Given the description of an element on the screen output the (x, y) to click on. 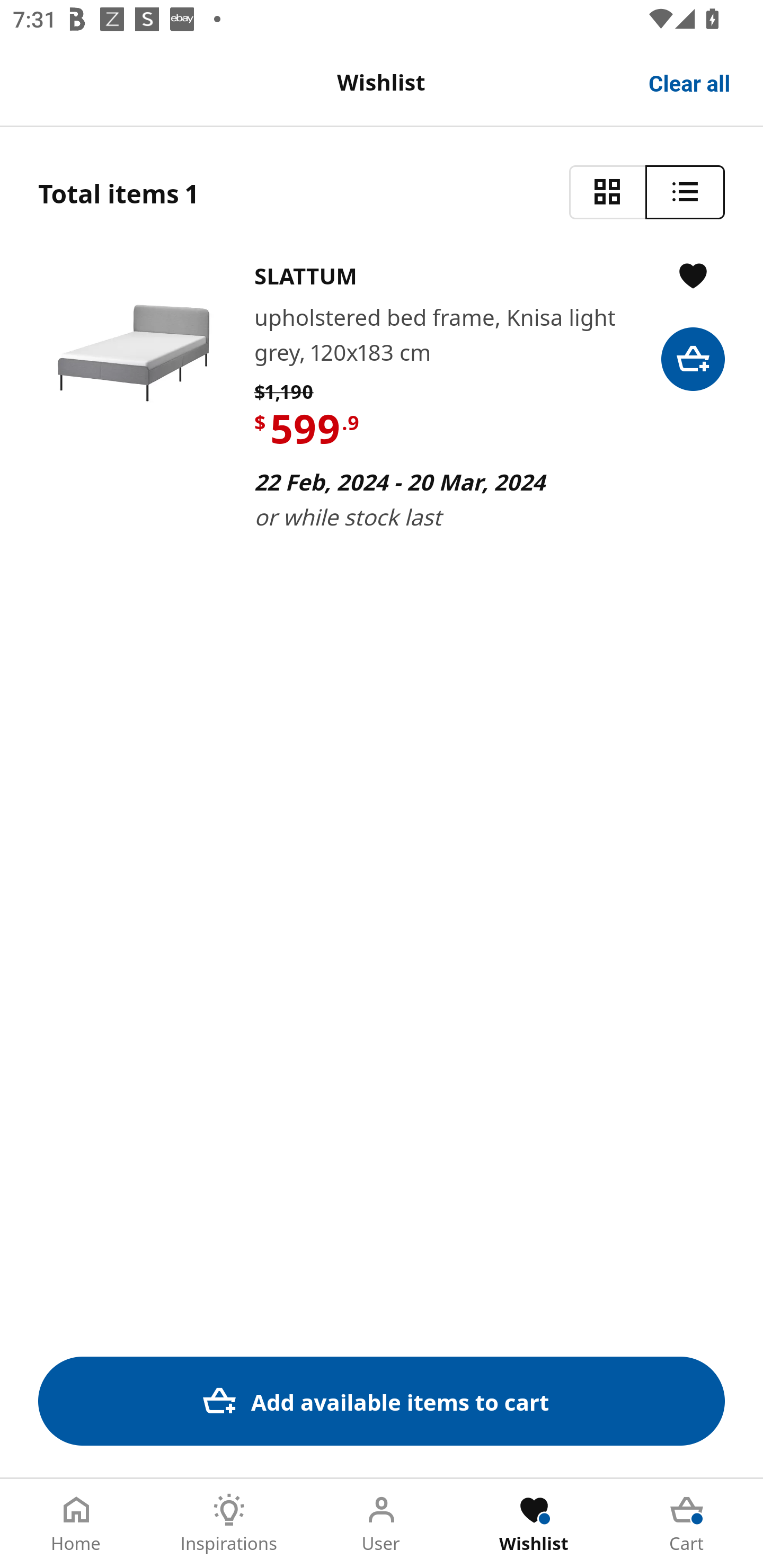
Clear all (689, 81)
Add available items to cart (381, 1400)
Home
Tab 1 of 5 (76, 1522)
Inspirations
Tab 2 of 5 (228, 1522)
User
Tab 3 of 5 (381, 1522)
Wishlist
Tab 4 of 5 (533, 1522)
Cart
Tab 5 of 5 (686, 1522)
